Given the description of an element on the screen output the (x, y) to click on. 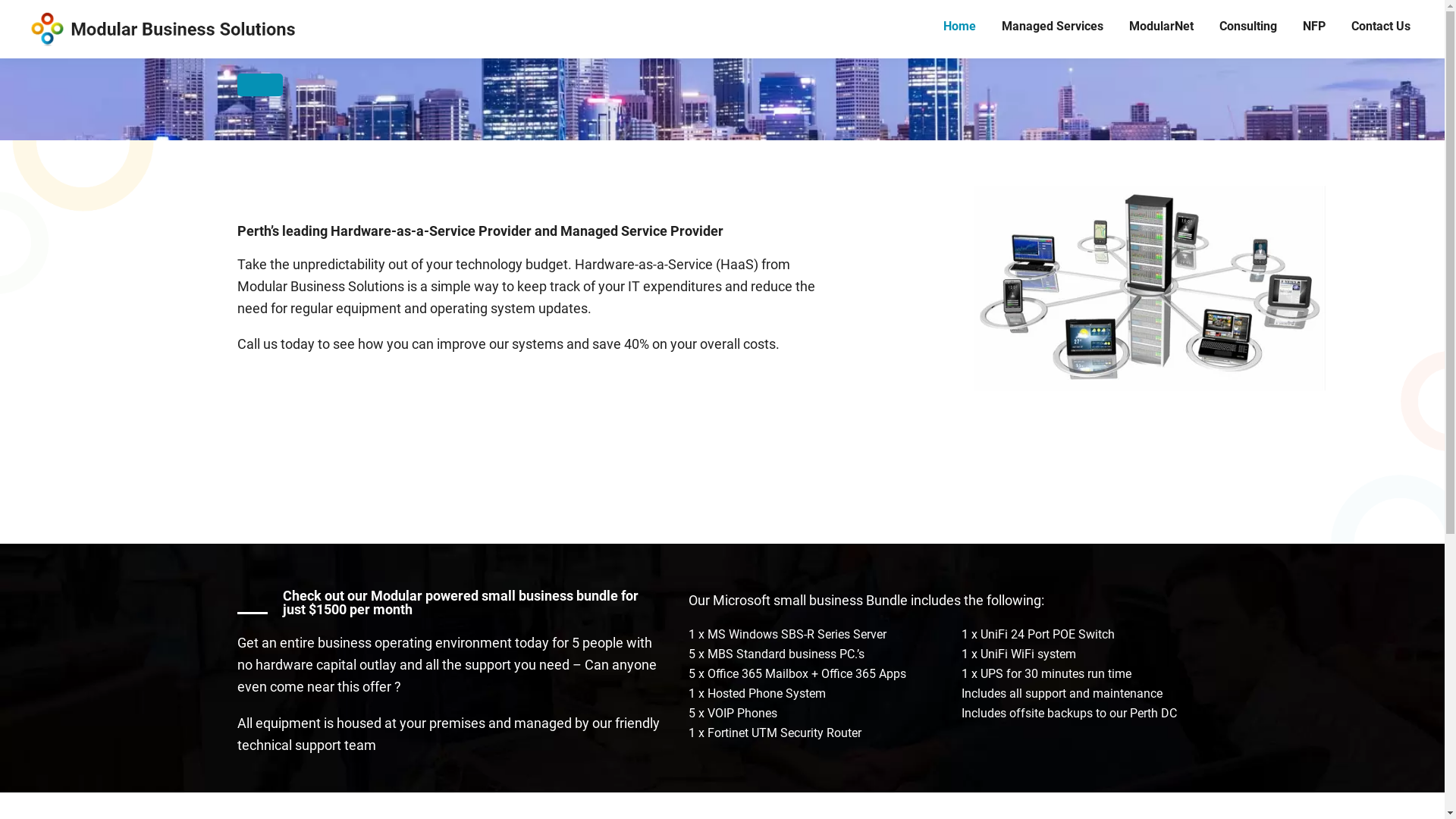
Consulting Element type: text (1248, 26)
Modular Solutions Element type: text (160, 28)
Managed Services Element type: text (1052, 26)
Skip to primary navigation Element type: text (0, 0)
Contact Us Element type: text (1380, 26)
Home Element type: text (959, 26)
ModularNet Element type: text (1160, 26)
NFP Element type: text (1313, 26)
